Given the description of an element on the screen output the (x, y) to click on. 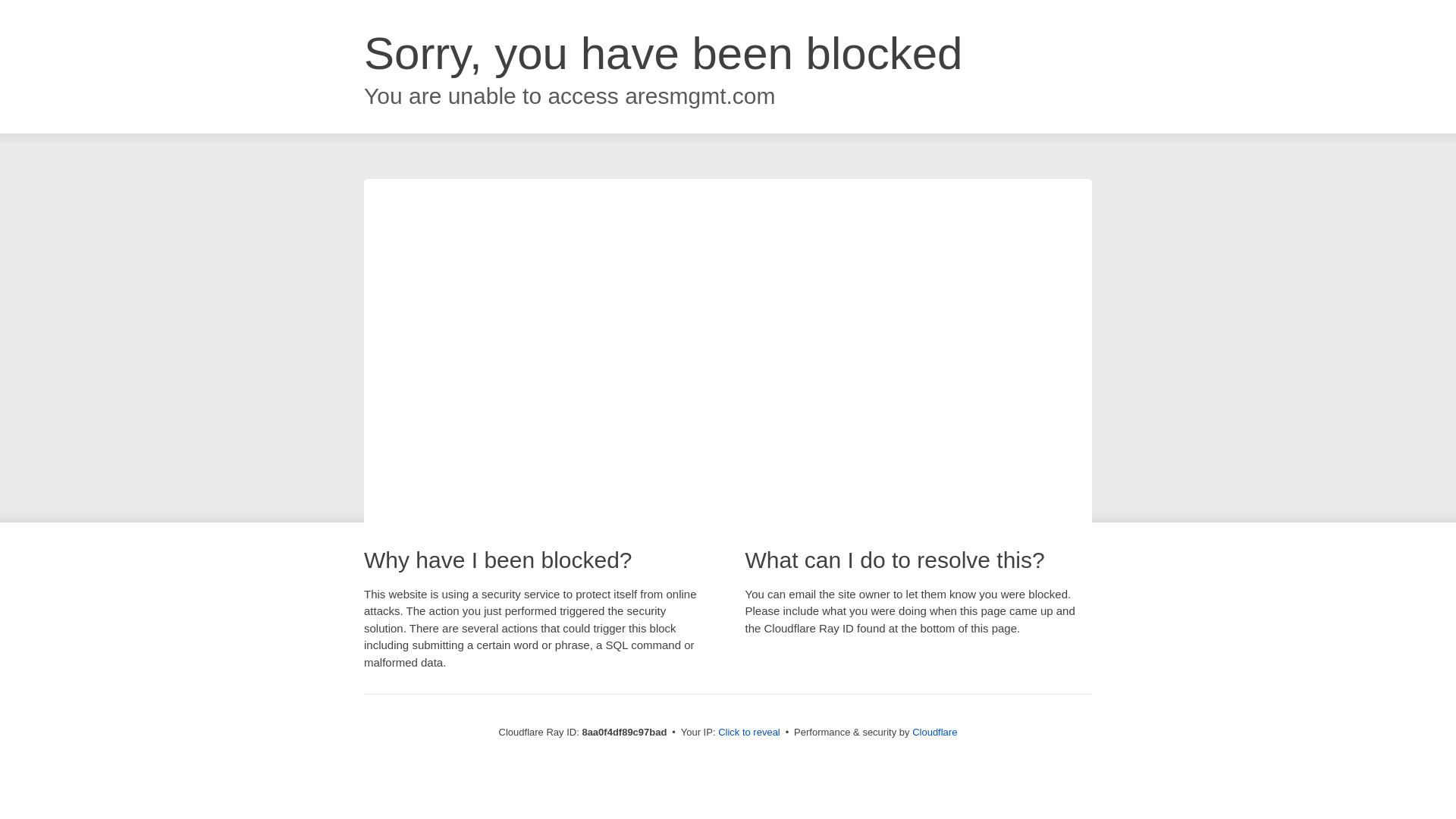
Click to reveal (748, 732)
Cloudflare (934, 731)
